Given the description of an element on the screen output the (x, y) to click on. 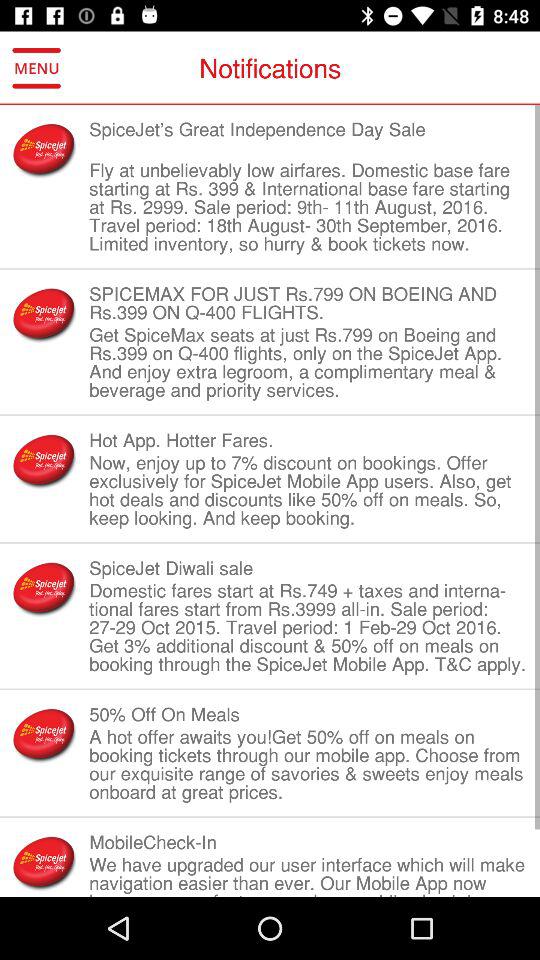
press icon below notifications item (307, 138)
